Given the description of an element on the screen output the (x, y) to click on. 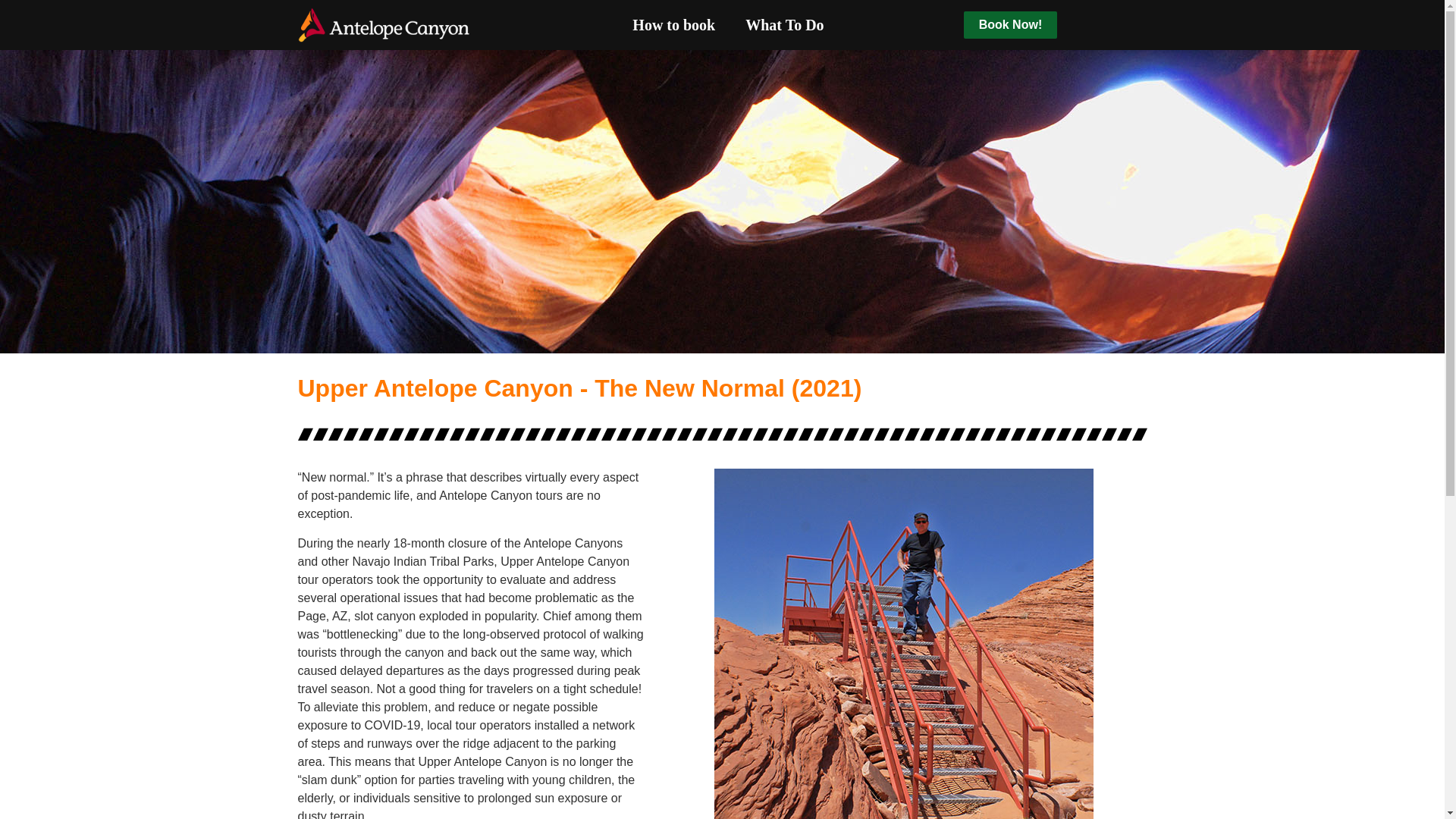
What To Do Element type: text (784, 24)
How to book Element type: text (673, 24)
Book Now! Element type: text (1010, 24)
